Given the description of an element on the screen output the (x, y) to click on. 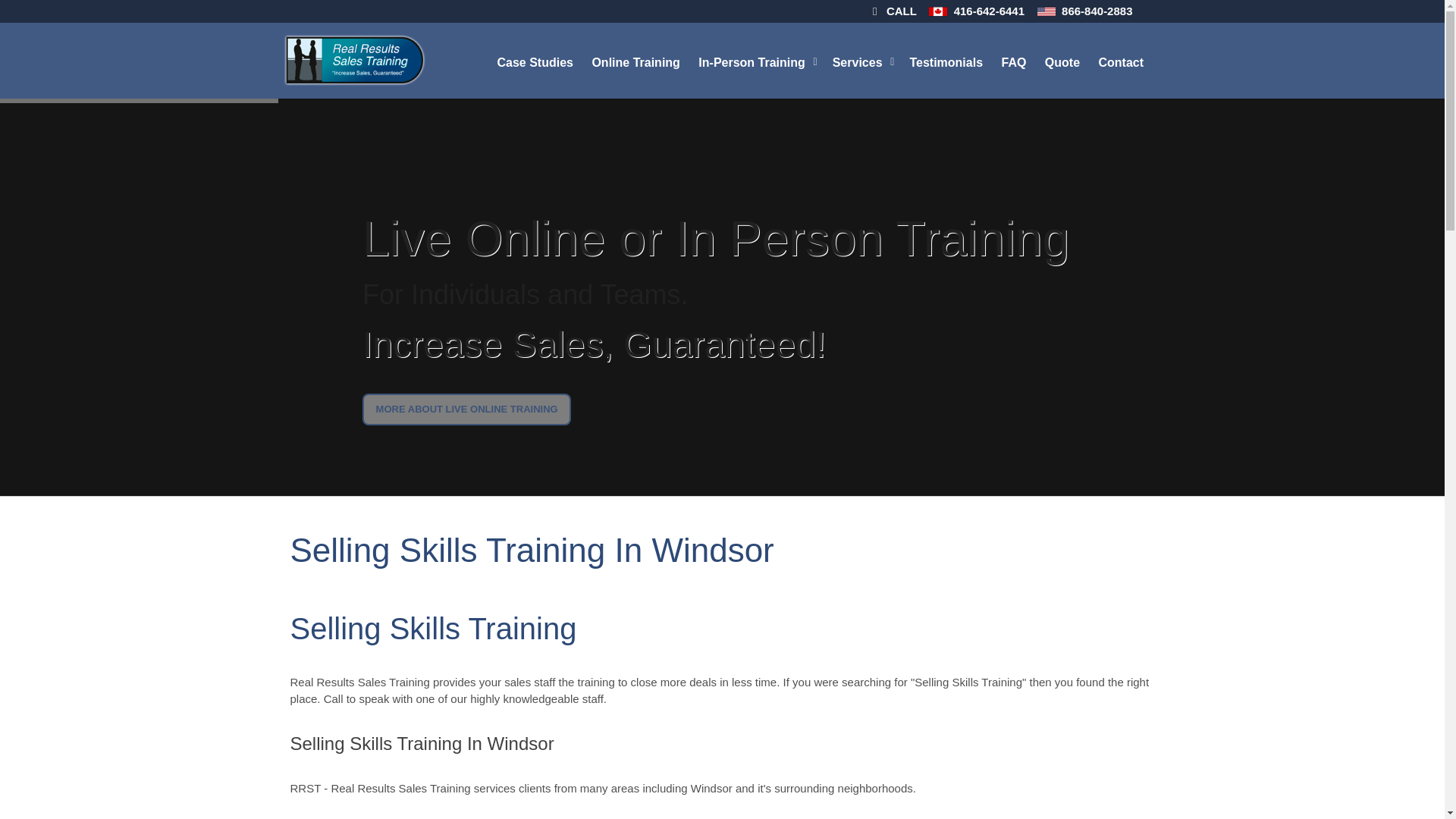
416-642-6441 (989, 10)
 MORE ABOUT LIVE ONLINE TRAINING  (466, 409)
Case Studies  (536, 60)
Testimonials  (946, 60)
Call in Canada for Sales Training (937, 12)
Call in the US for Sales Training (1045, 12)
Online Training  (636, 60)
Home - Real Results Sales Training (353, 59)
In-Person Training   (757, 60)
Services   (863, 60)
